Given the description of an element on the screen output the (x, y) to click on. 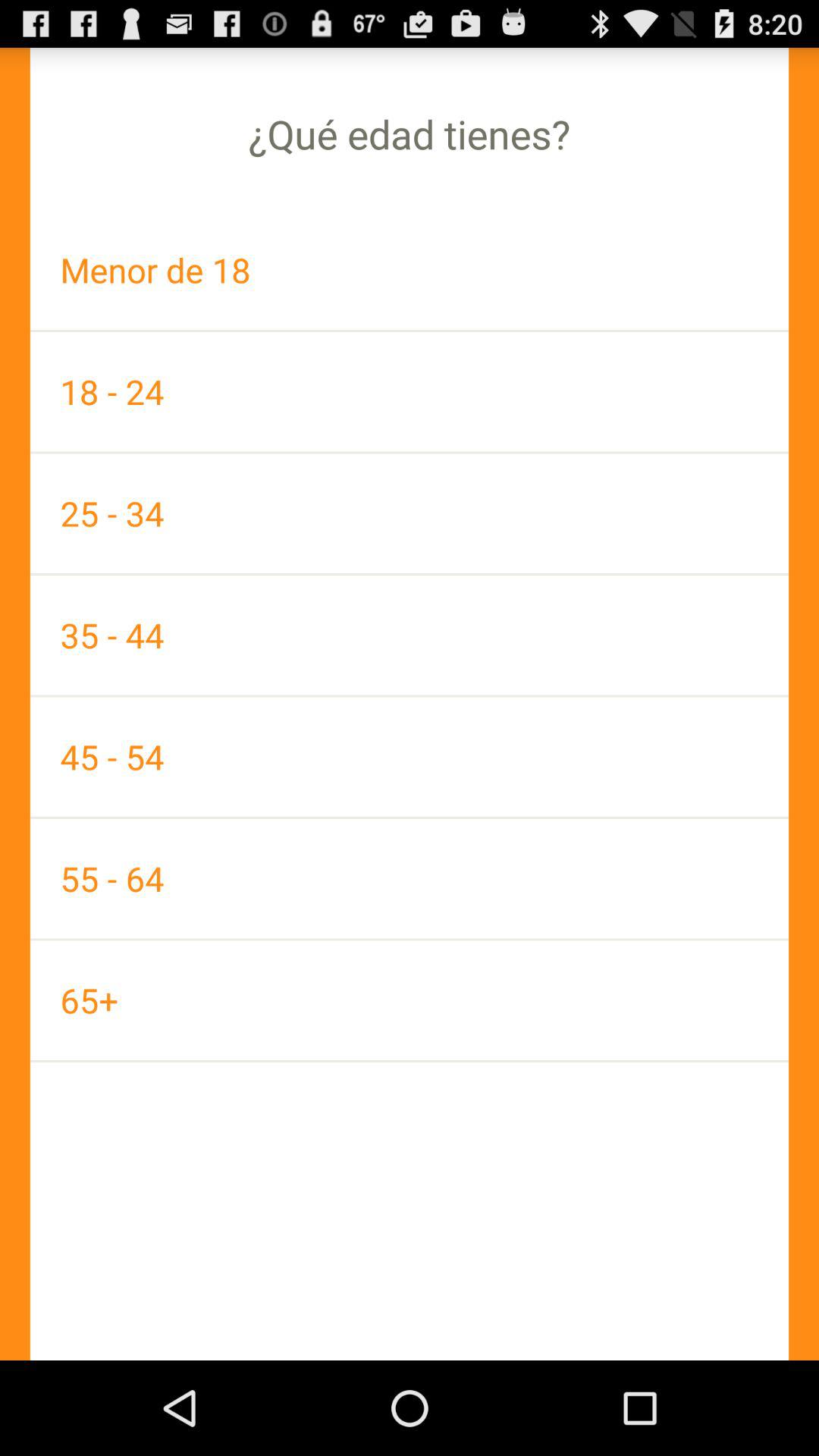
select item below the 18 - 24 icon (409, 513)
